Given the description of an element on the screen output the (x, y) to click on. 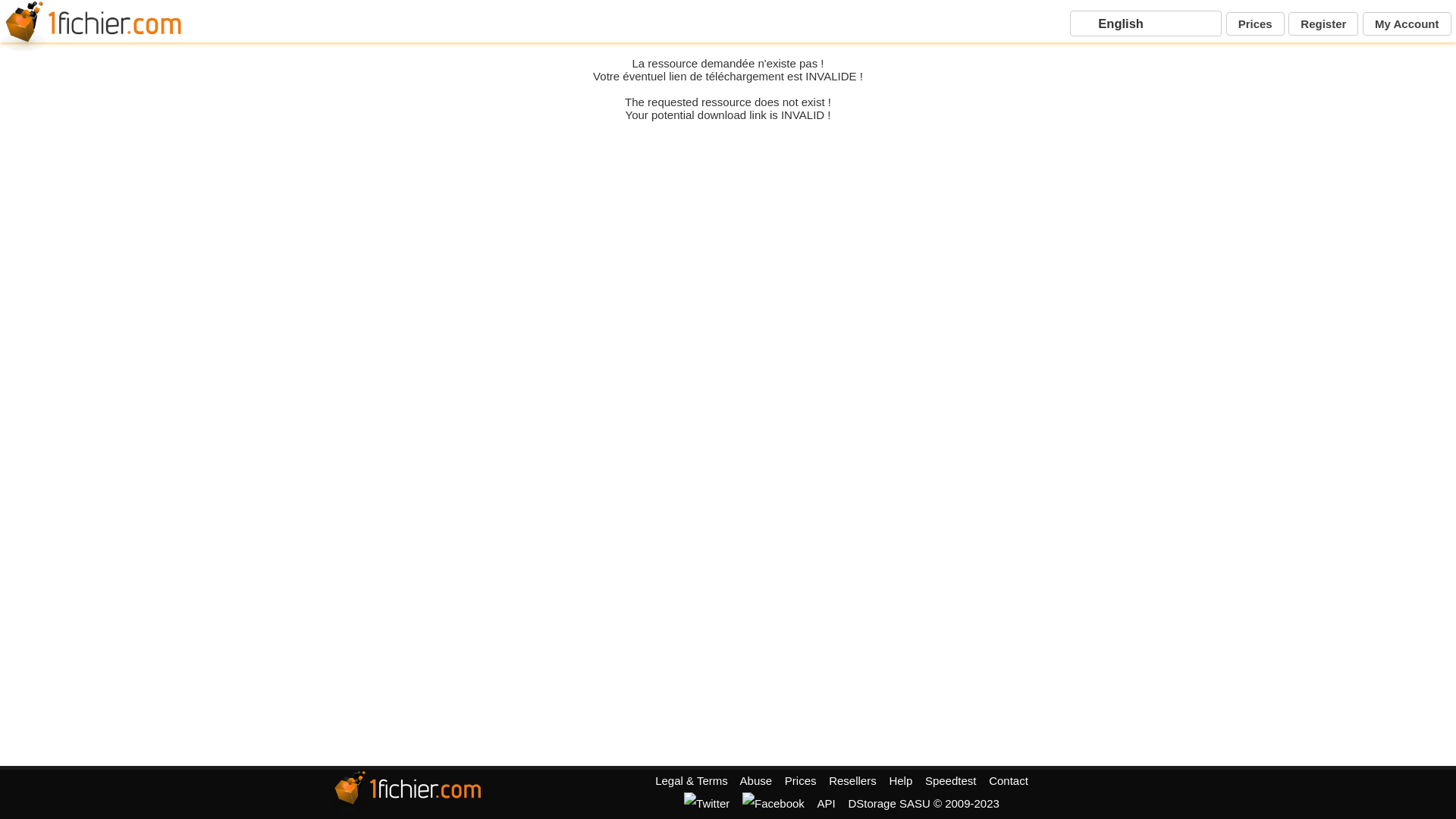
API Element type: text (826, 803)
Legal & Terms Element type: text (691, 780)
My Account Element type: text (1406, 23)
Resellers Element type: text (852, 780)
Abuse Element type: text (756, 780)
Speedtest Element type: text (950, 780)
Prices Element type: text (800, 780)
Contact Element type: text (1008, 780)
Register Element type: text (1323, 23)
Prices Element type: text (1255, 23)
Help Element type: text (900, 780)
